Given the description of an element on the screen output the (x, y) to click on. 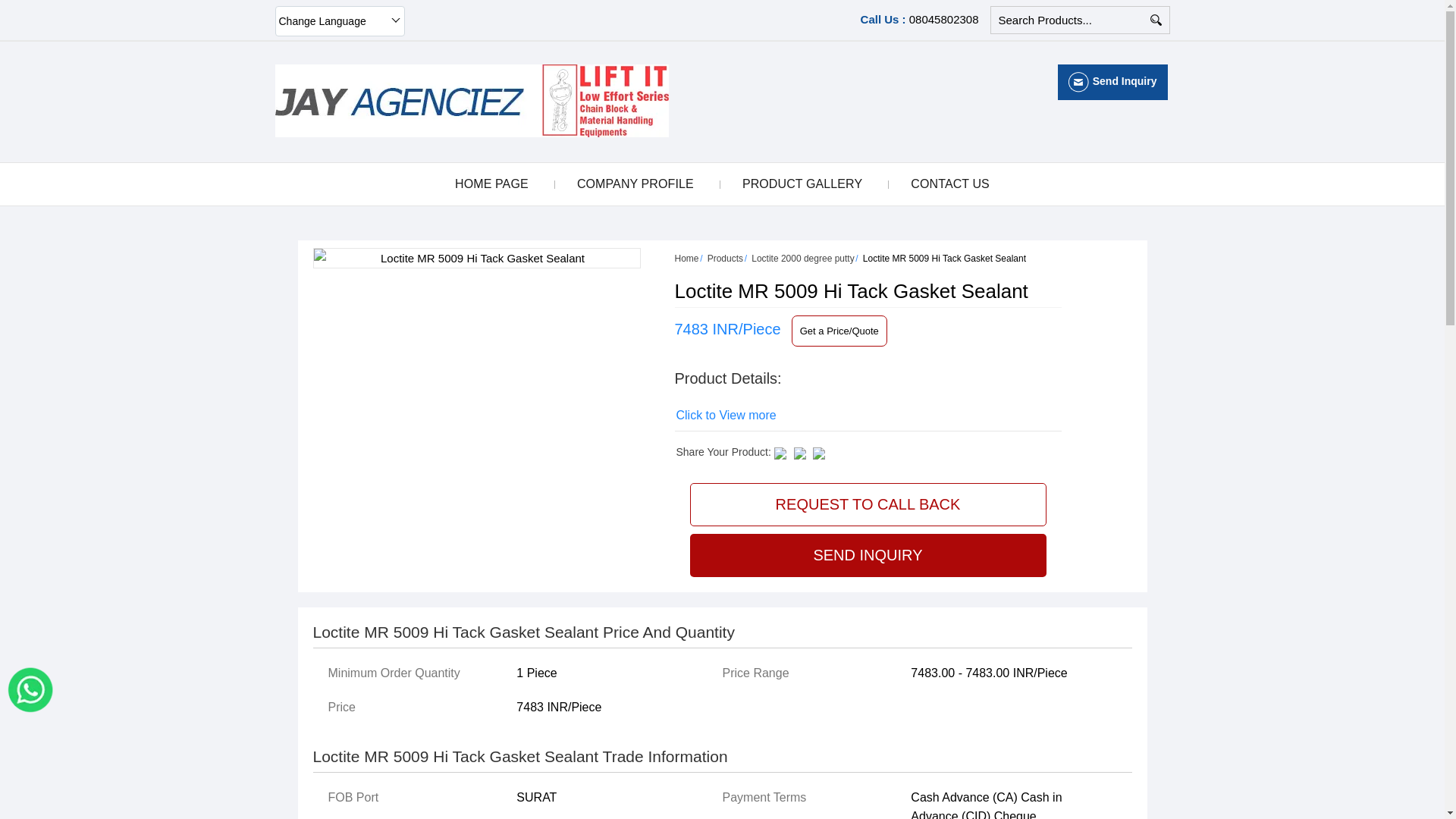
Jay Agenciez (471, 100)
Search (1155, 19)
COMPANY PROFILE (635, 183)
HOME PAGE (491, 183)
Search Products... (1070, 19)
Send Inquiry (1078, 82)
Send Inquiry (1112, 80)
PRODUCT GALLERY (802, 183)
submit (1155, 19)
